Given the description of an element on the screen output the (x, y) to click on. 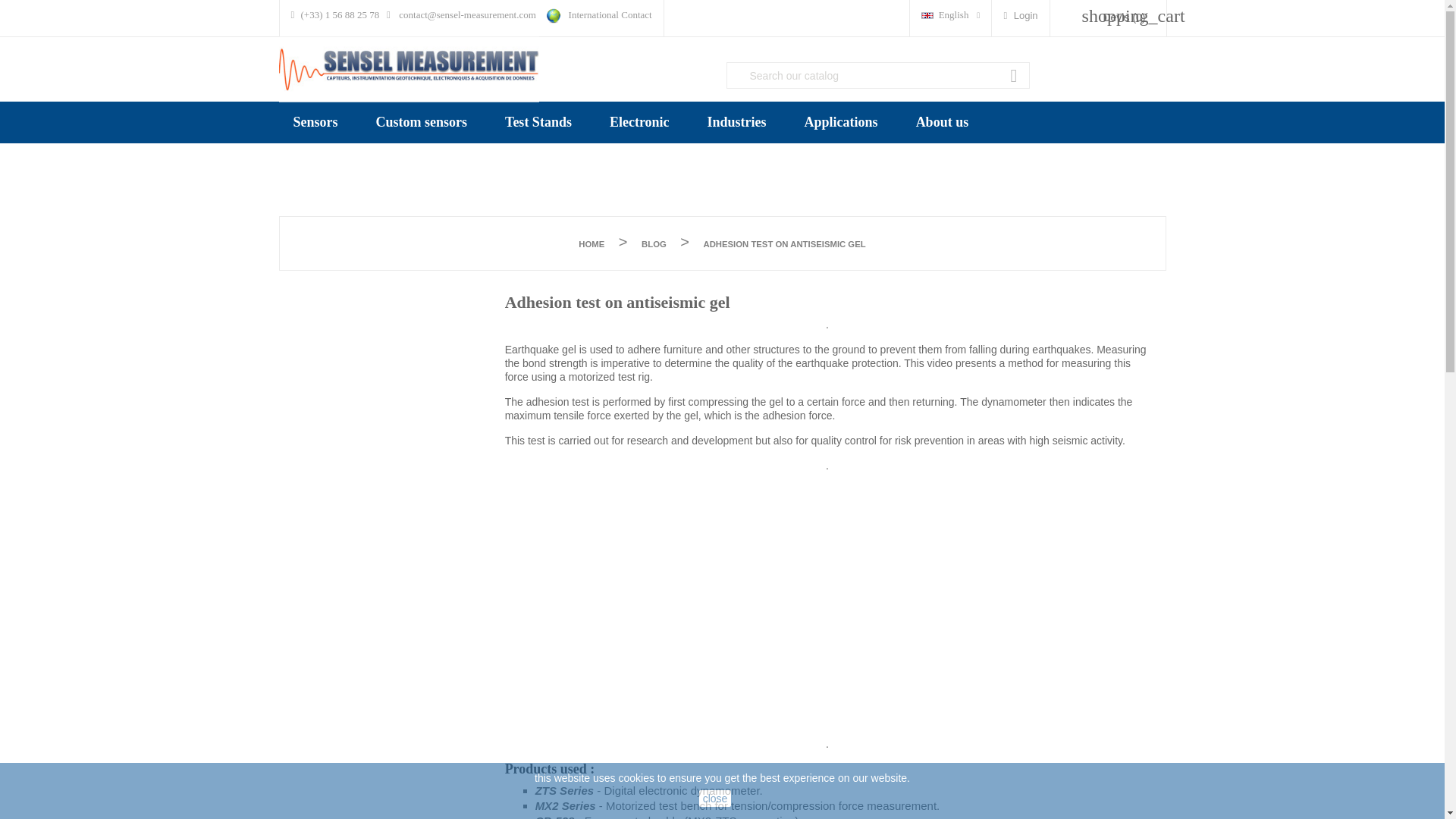
Single Axis Piezoelectric (470, 159)
Single Axis Inclinometer (469, 159)
Inclinometers, Tiltmeters, Tiltsensors (473, 168)
Single Point Weighing Cell (351, 149)
Login (1019, 15)
High Capacity Load Cell (346, 149)
Custom Load Cells (333, 149)
Custom Load Pins (332, 149)
Automotive Load Cells (342, 149)
Single Axis Accelerometer (474, 159)
